Given the description of an element on the screen output the (x, y) to click on. 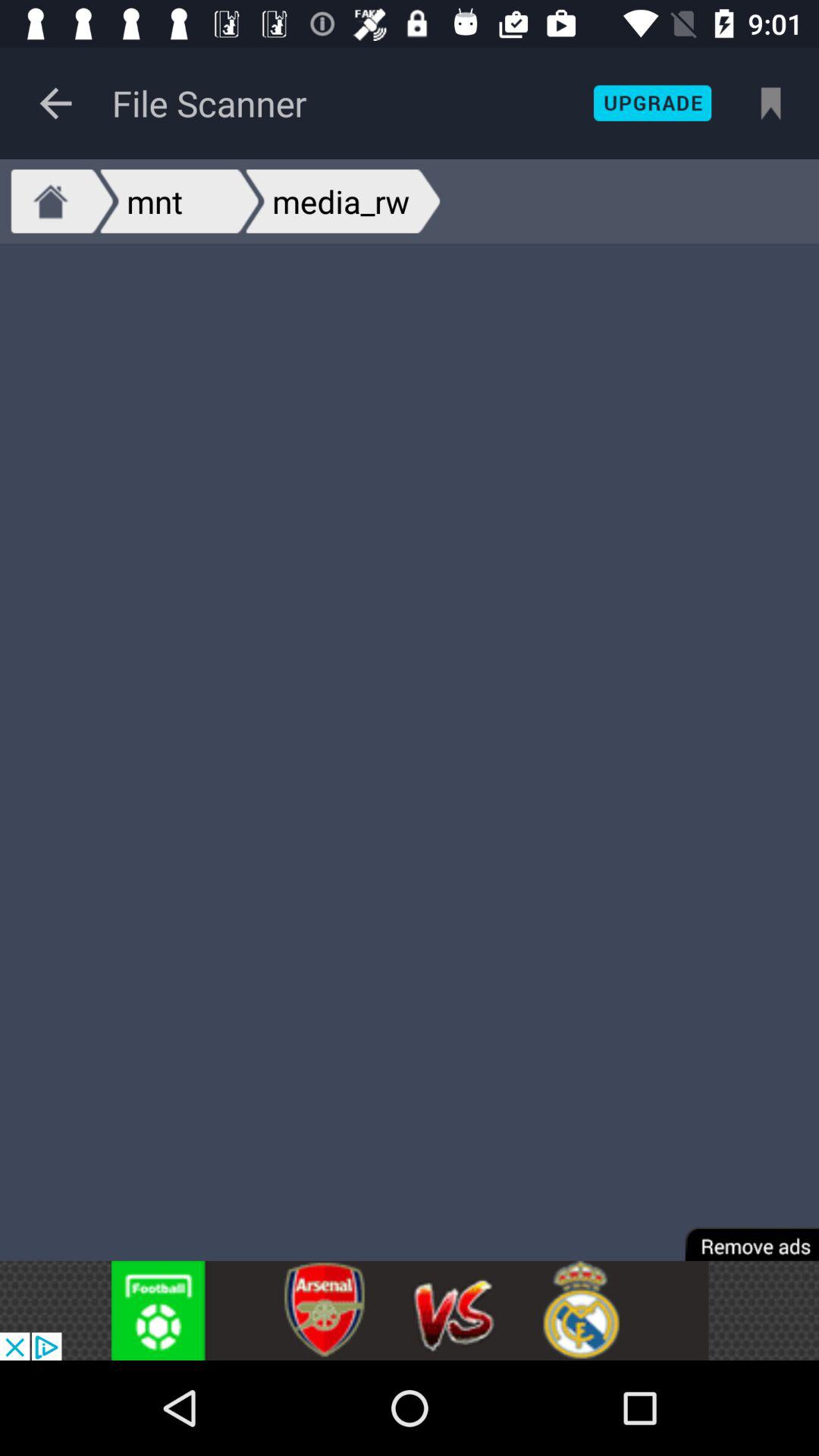
advertisements to watch (409, 1310)
